Given the description of an element on the screen output the (x, y) to click on. 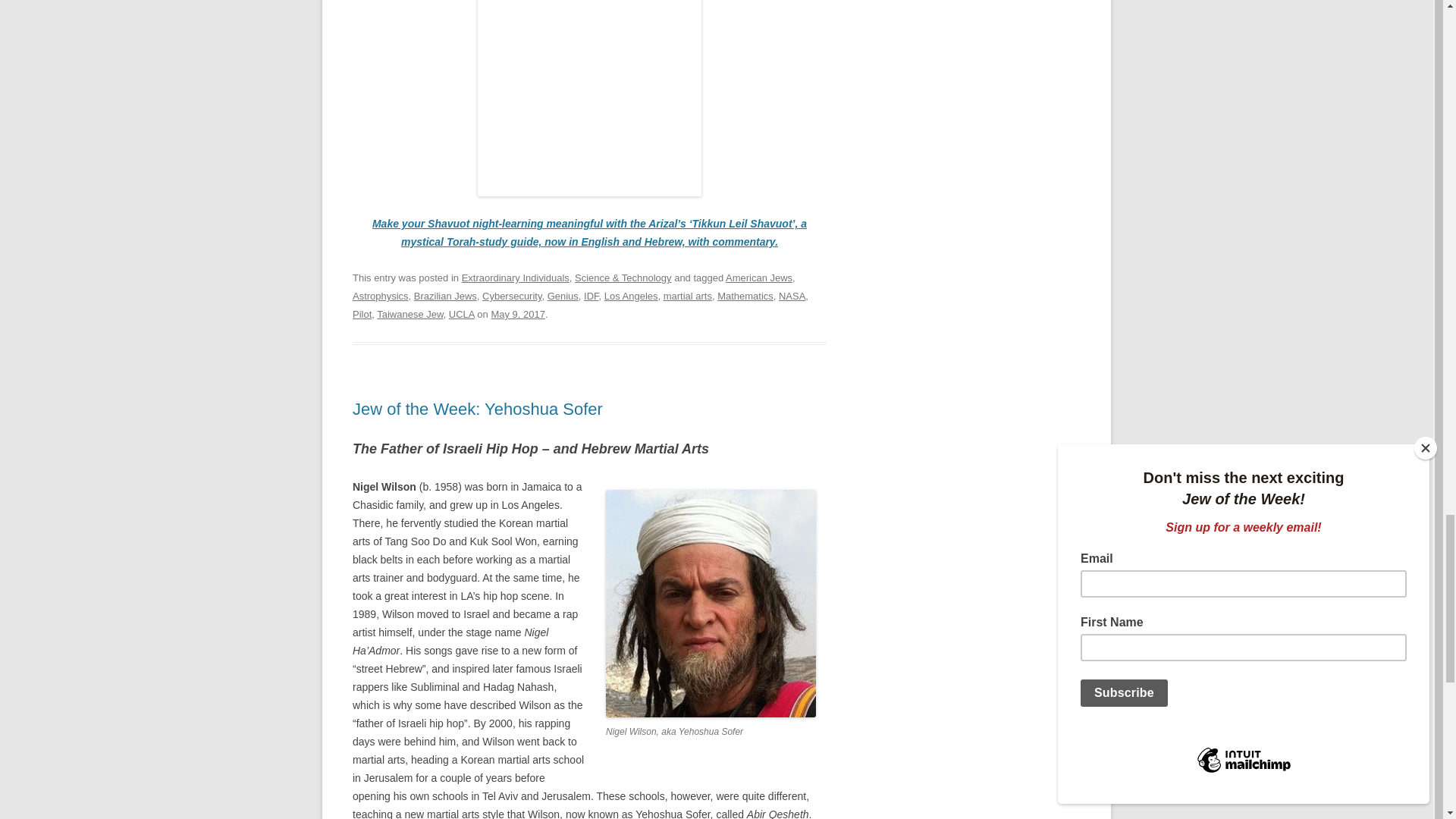
Extraordinary Individuals (515, 277)
Astrophysics (380, 296)
American Jews (758, 277)
10:31 pm (517, 314)
Brazilian Jews (445, 296)
